Given the description of an element on the screen output the (x, y) to click on. 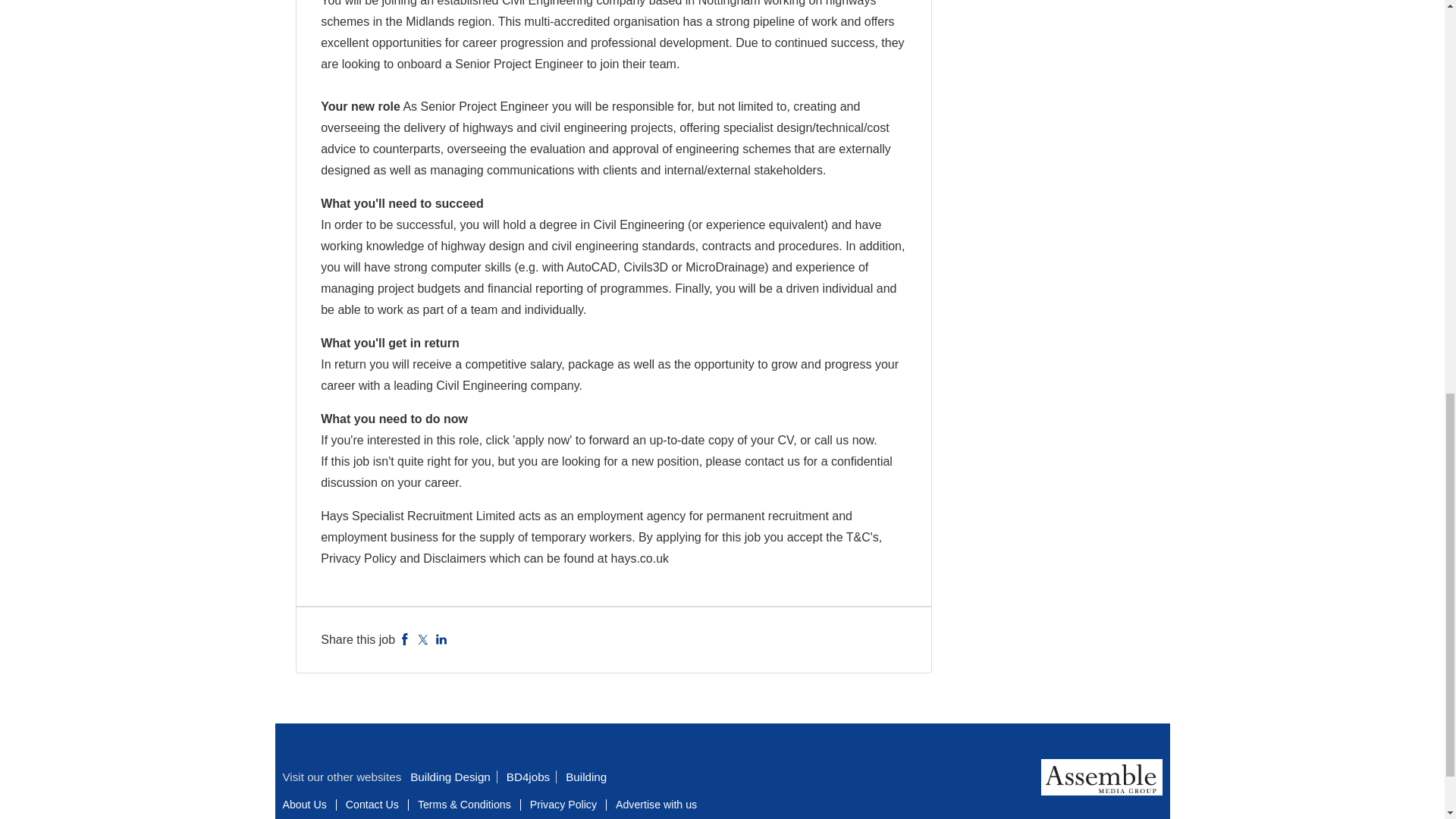
Building (589, 776)
BD4jobs (531, 776)
About Us (304, 804)
Facebook (404, 639)
Twitter (422, 639)
LinkedIn (440, 639)
Building Design (453, 776)
